Given the description of an element on the screen output the (x, y) to click on. 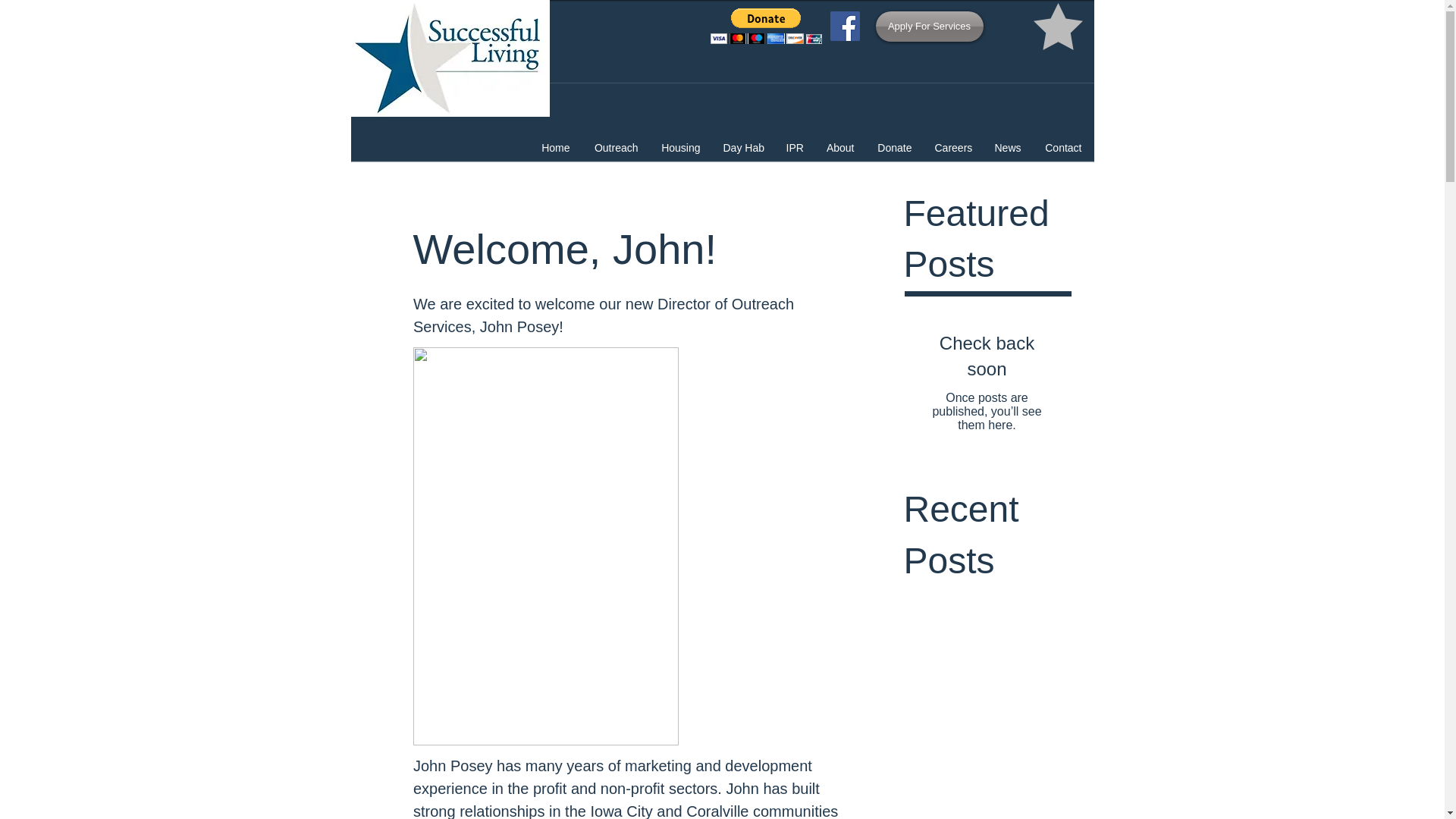
Careers (953, 147)
Apply For Services (928, 26)
IPR (793, 147)
Home (554, 147)
Donate (894, 147)
News (1007, 147)
Contact (1062, 147)
Outreach (614, 147)
Day Hab (742, 147)
